Given the description of an element on the screen output the (x, y) to click on. 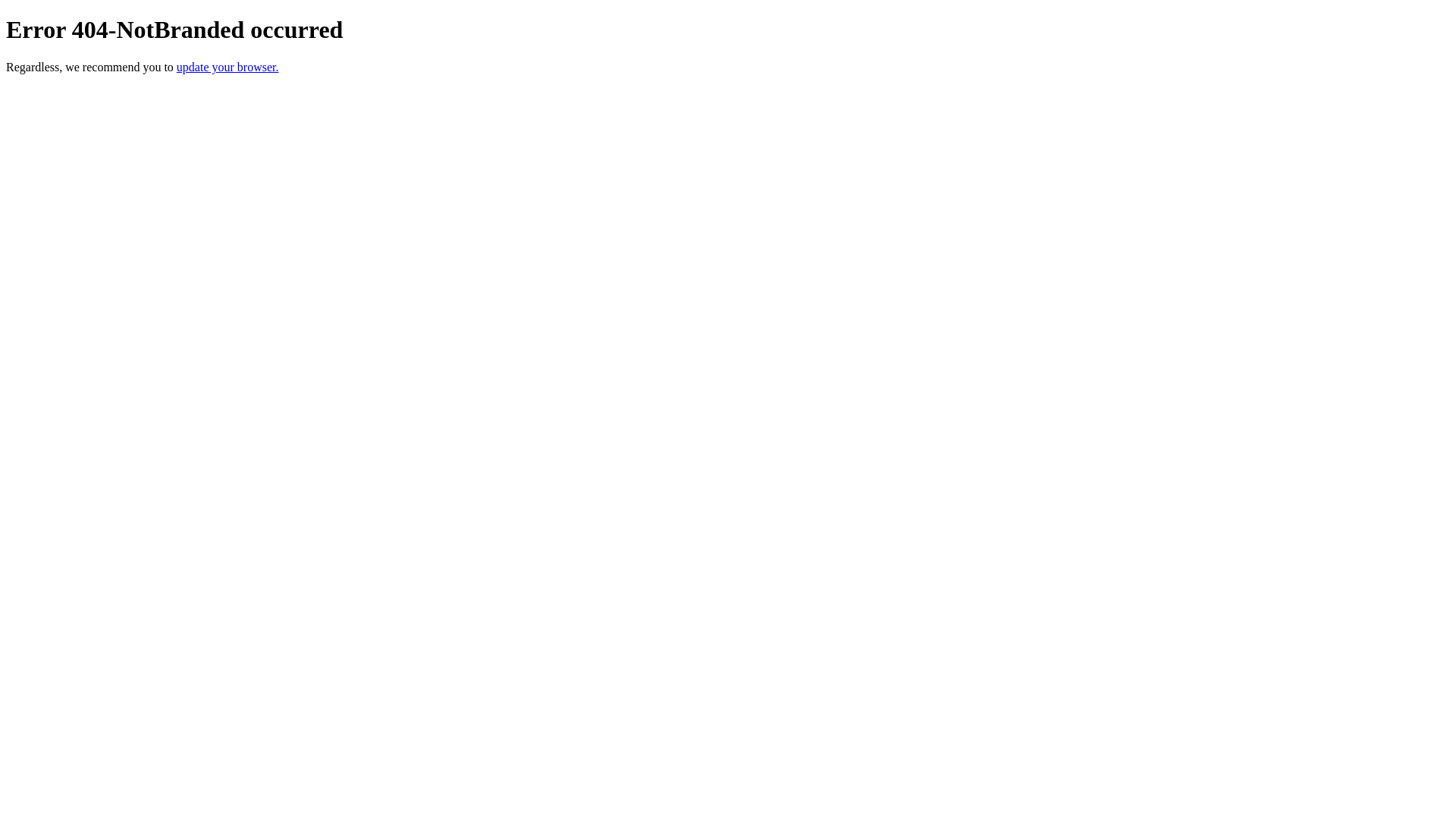
update your browser. Element type: text (227, 66)
